Given the description of an element on the screen output the (x, y) to click on. 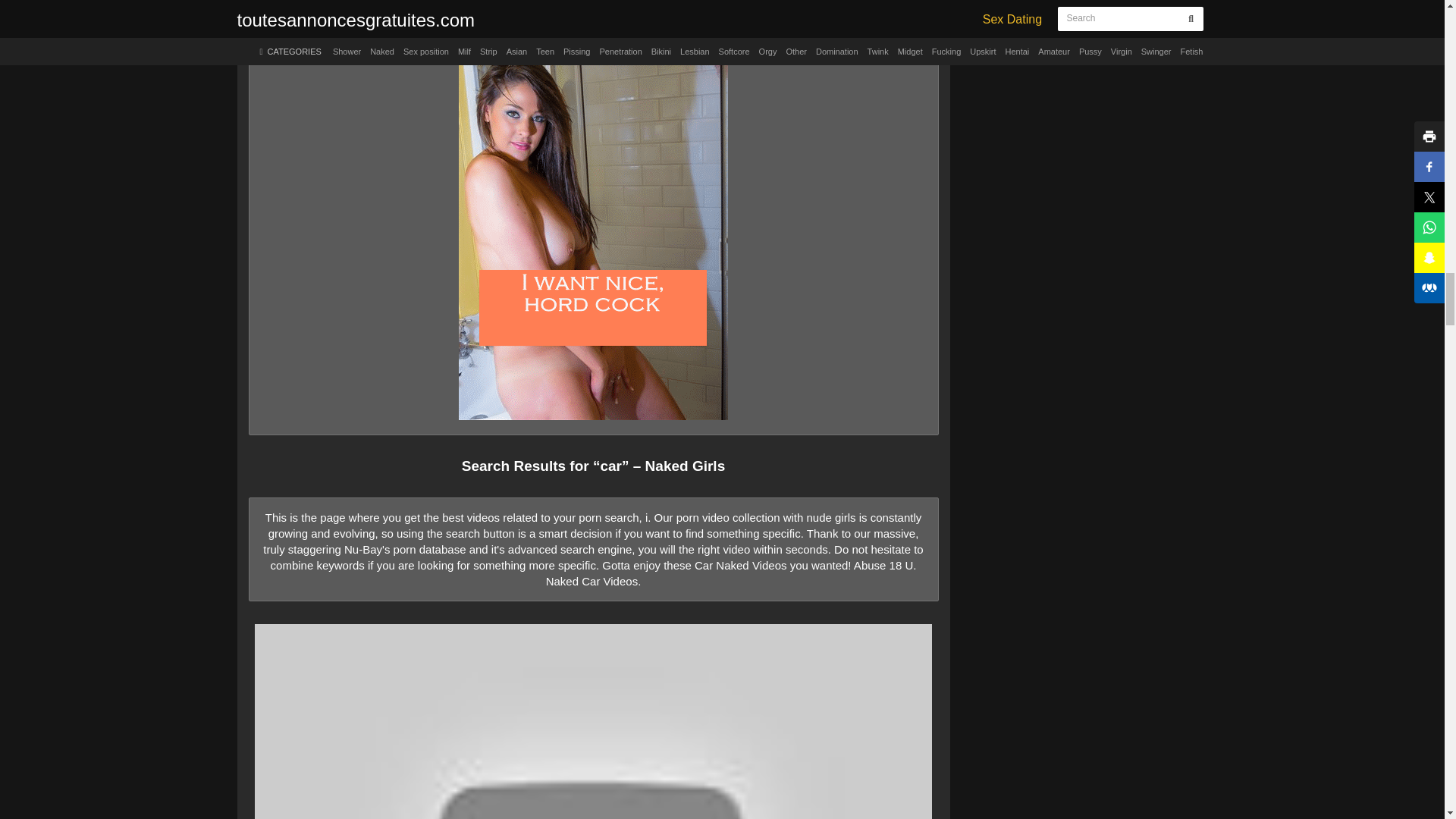
Meagn foxs boobs (592, 7)
